Given the description of an element on the screen output the (x, y) to click on. 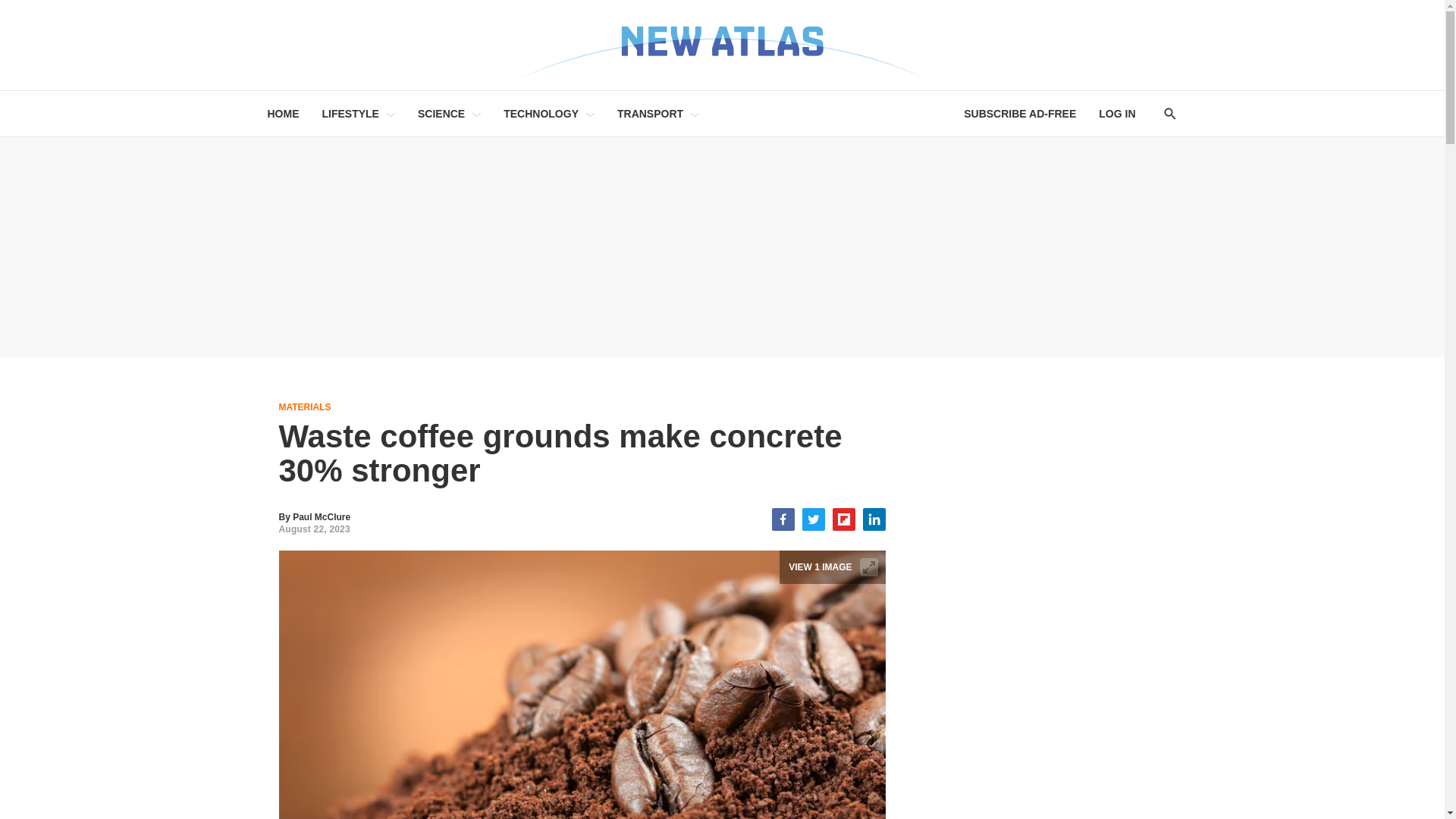
View full-screen (868, 566)
